Given the description of an element on the screen output the (x, y) to click on. 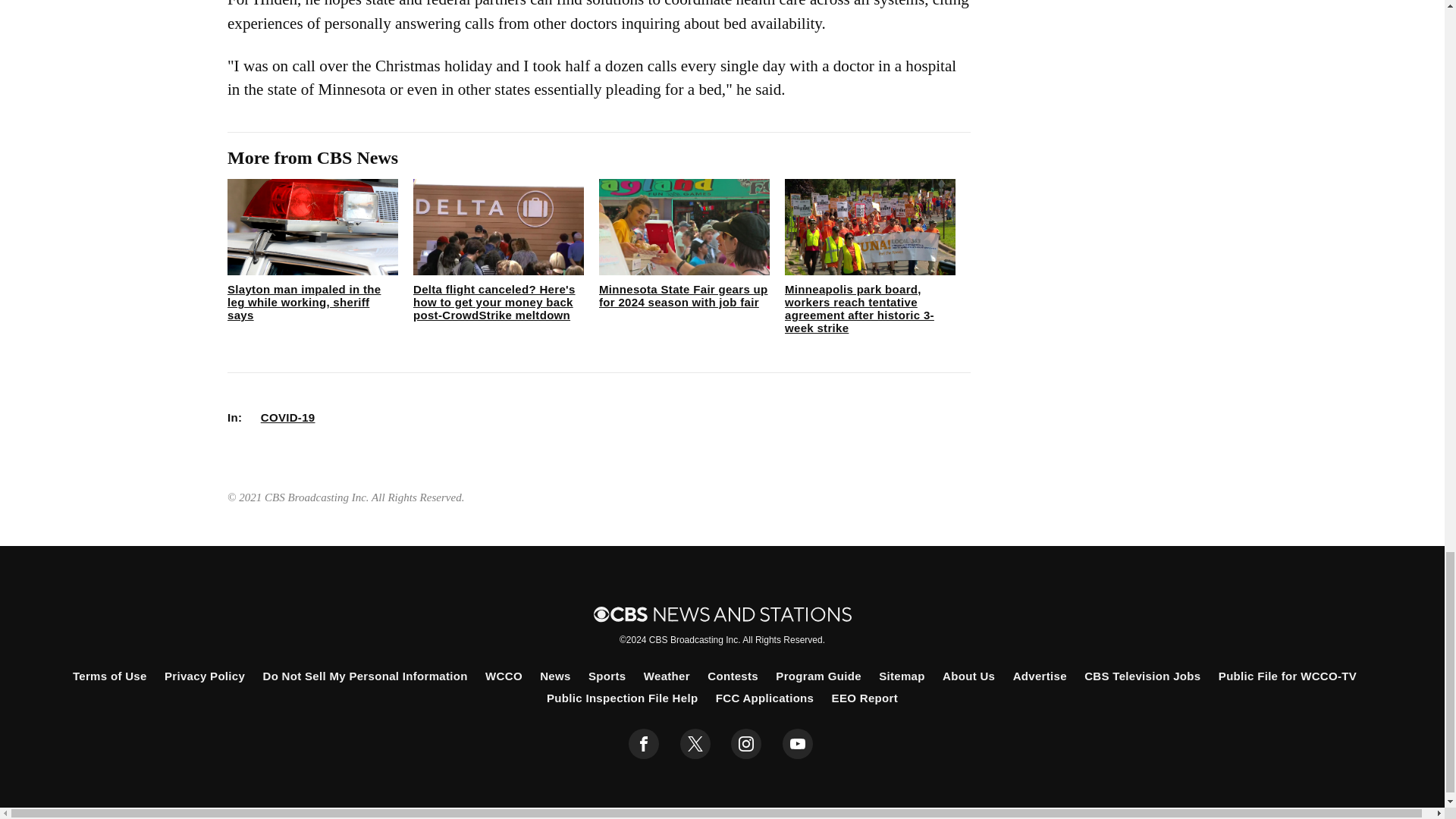
twitter (694, 743)
youtube (797, 743)
instagram (745, 743)
facebook (643, 743)
